Given the description of an element on the screen output the (x, y) to click on. 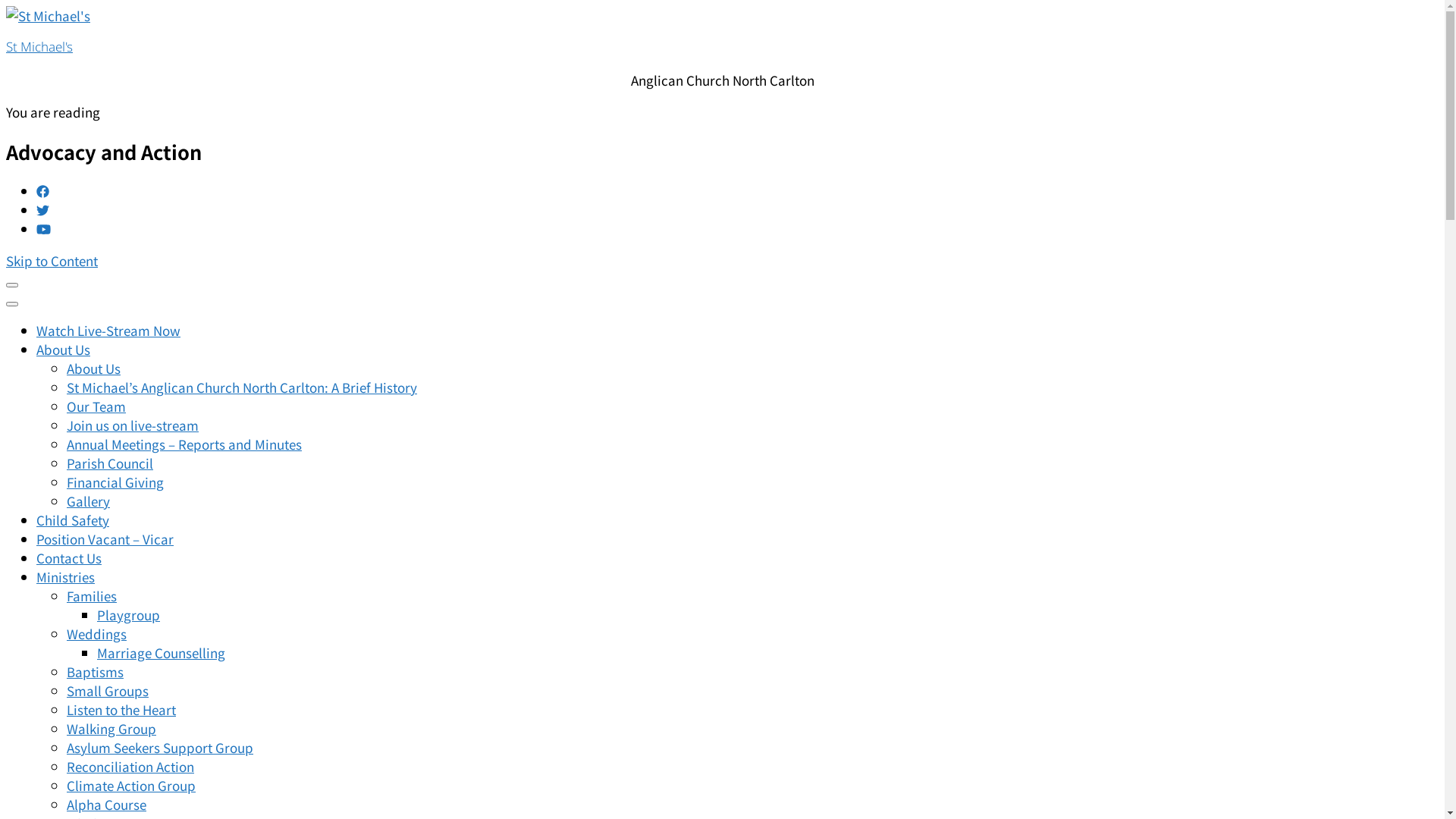
Skip to Content Element type: text (51, 260)
Asylum Seekers Support Group Element type: text (159, 746)
Small Groups Element type: text (107, 689)
Join us on live-stream Element type: text (132, 424)
Our Team Element type: text (95, 405)
Weddings Element type: text (96, 633)
Marriage Counselling Element type: text (161, 652)
Alpha Course Element type: text (106, 803)
Playgroup Element type: text (128, 614)
Baptisms Element type: text (94, 671)
Gallery Element type: text (87, 500)
Reconciliation Action Element type: text (130, 765)
Parish Council Element type: text (109, 462)
Child Safety Element type: text (72, 519)
Watch Live-Stream Now Element type: text (108, 329)
St Michael's Element type: text (39, 46)
Families Element type: text (91, 595)
Ministries Element type: text (65, 576)
About Us Element type: text (93, 367)
About Us Element type: text (63, 348)
Walking Group Element type: text (111, 727)
Financial Giving Element type: text (114, 481)
Contact Us Element type: text (68, 557)
Climate Action Group Element type: text (130, 784)
Listen to the Heart Element type: text (120, 708)
